Given the description of an element on the screen output the (x, y) to click on. 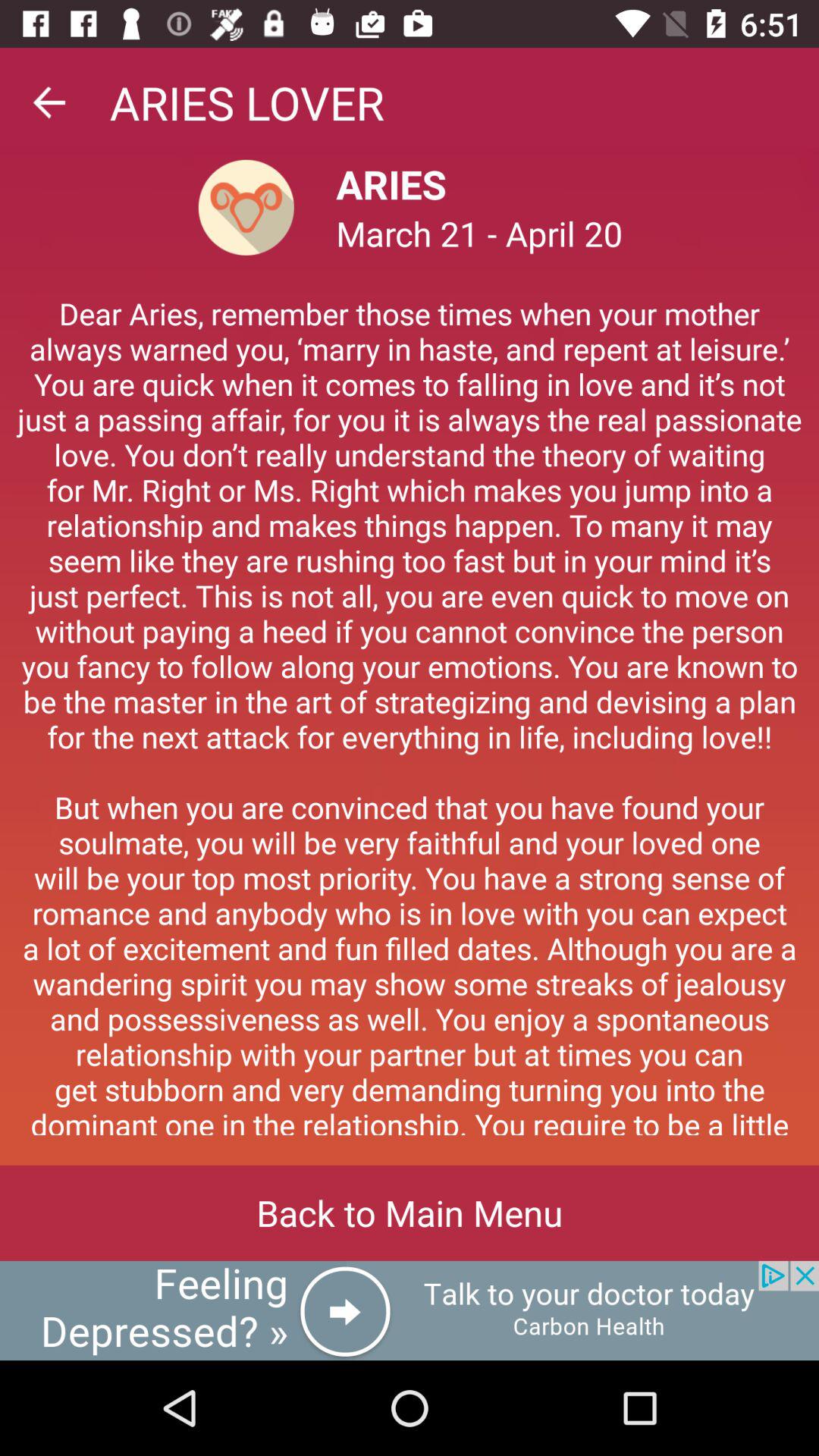
go back (49, 102)
